Given the description of an element on the screen output the (x, y) to click on. 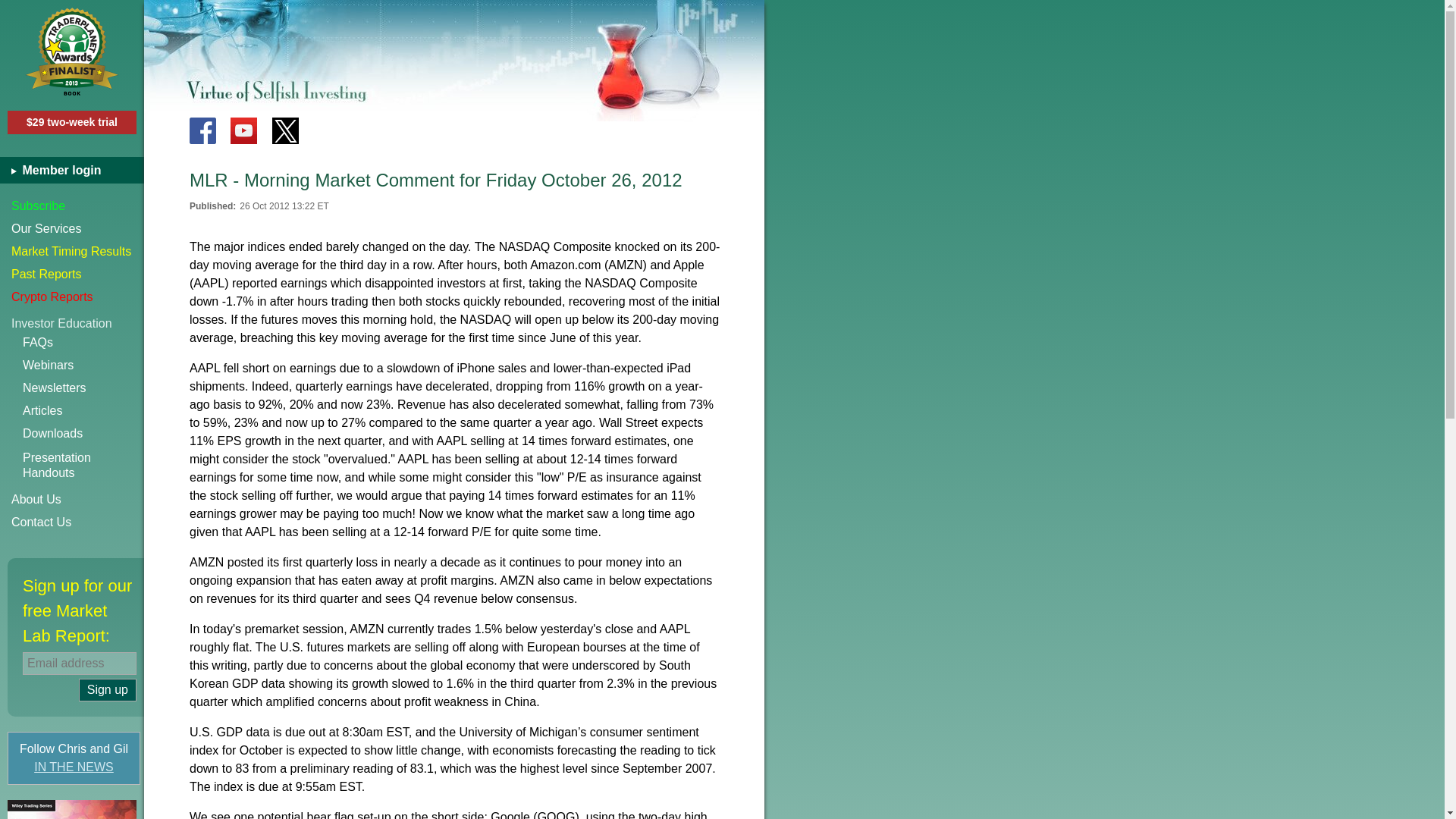
Articles (83, 410)
Contact Us (72, 522)
Newsletters (83, 387)
Sign up (107, 689)
IN THE NEWS (74, 767)
Market Timing Results (72, 251)
Facebook (202, 130)
Past Reports (83, 465)
FAQs (72, 273)
